Given the description of an element on the screen output the (x, y) to click on. 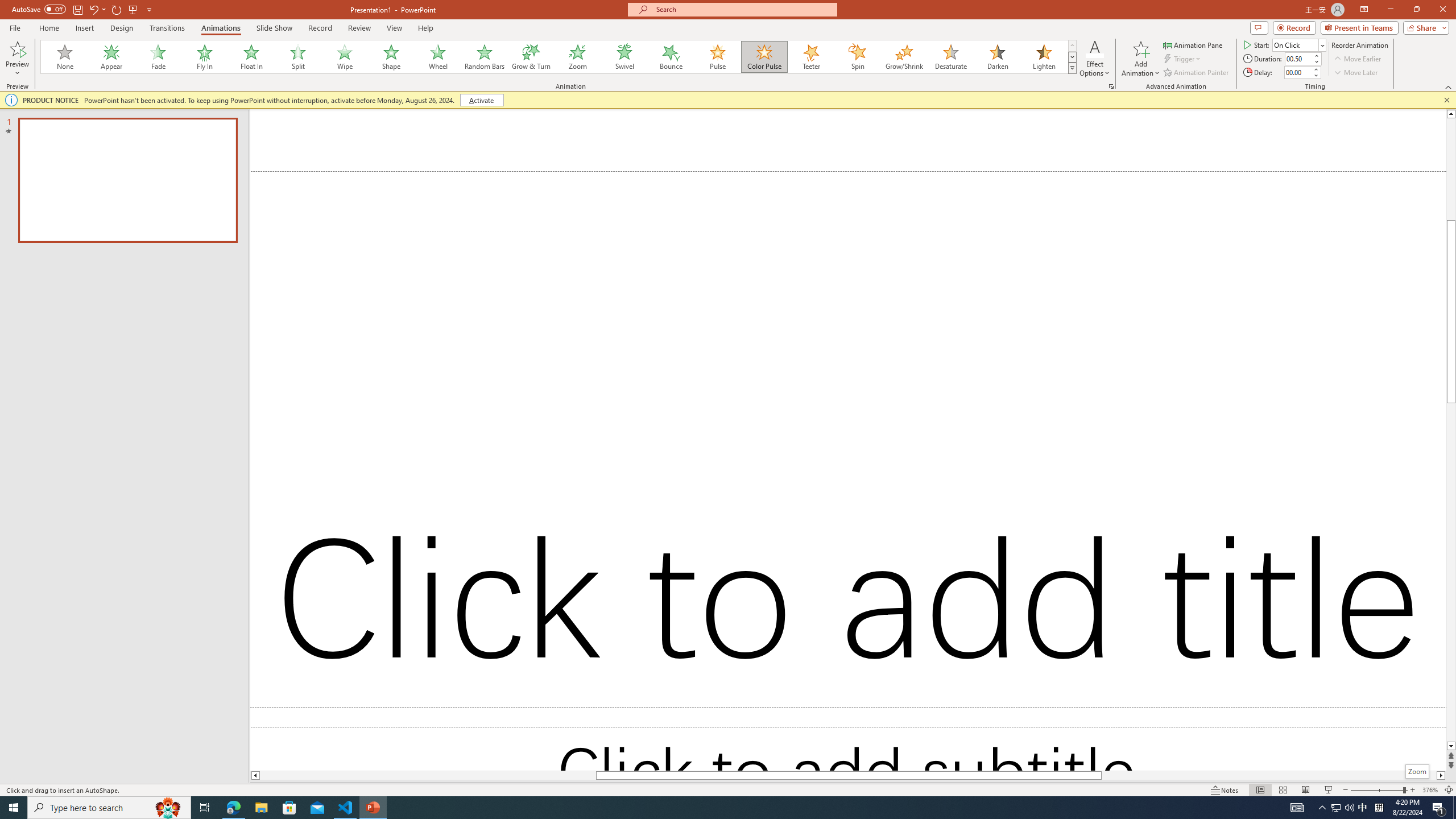
Class: MsoCommandBar (728, 789)
Trigger (1182, 58)
Color Pulse (764, 56)
Close this message (1446, 99)
Microsoft search (742, 9)
Spin (857, 56)
Activate (481, 100)
Animation Delay (1297, 72)
